Given the description of an element on the screen output the (x, y) to click on. 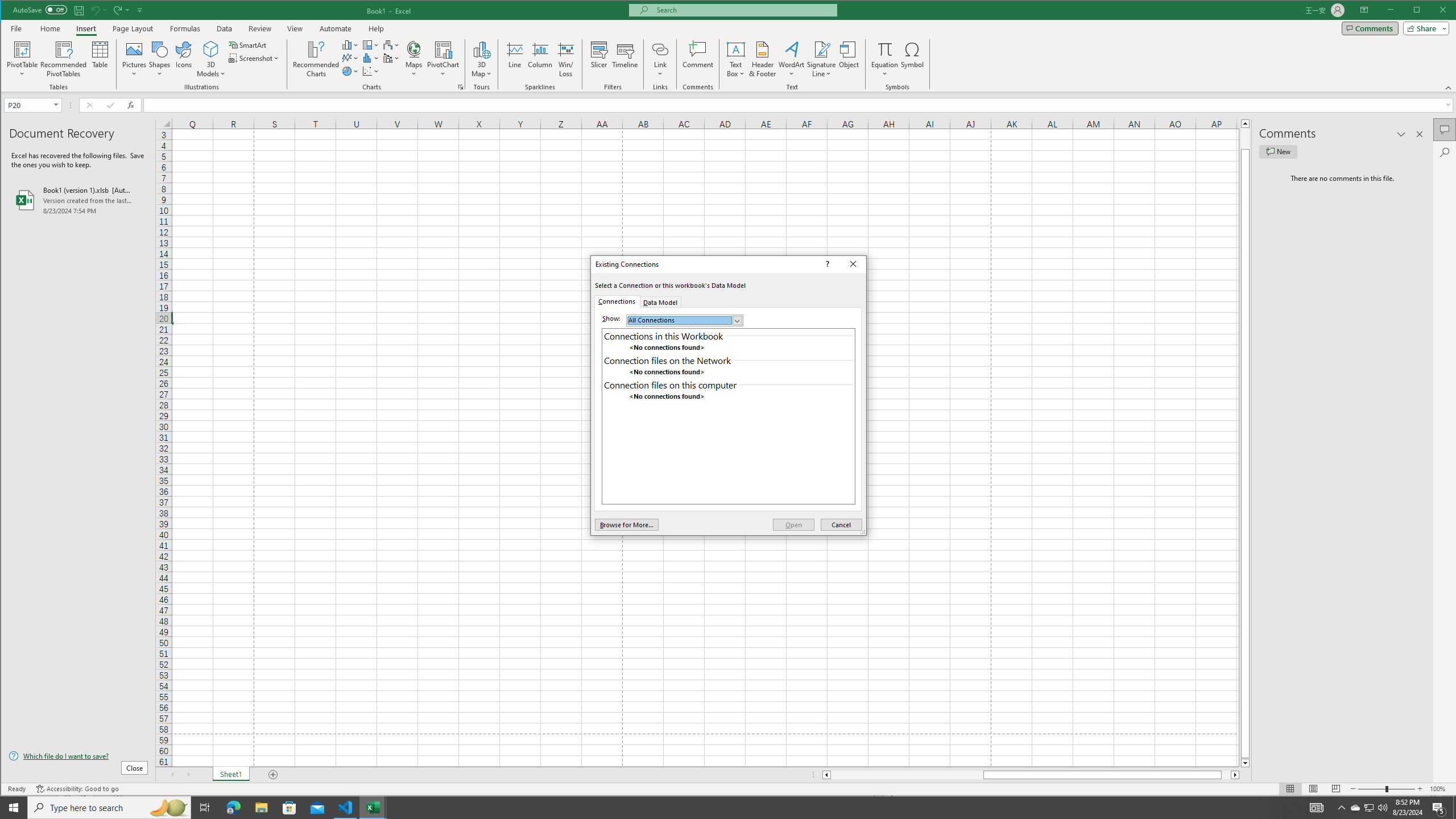
Search (1444, 151)
Signature Line (821, 59)
3D Map (481, 59)
Microsoft Store (289, 807)
Shapes (159, 59)
Close pane (1419, 133)
Page left (906, 774)
Line down (1245, 763)
Data Model (660, 300)
Screenshot (254, 57)
Class: NetUIImage (612, 396)
Equation (884, 59)
Comments (1444, 128)
